Given the description of an element on the screen output the (x, y) to click on. 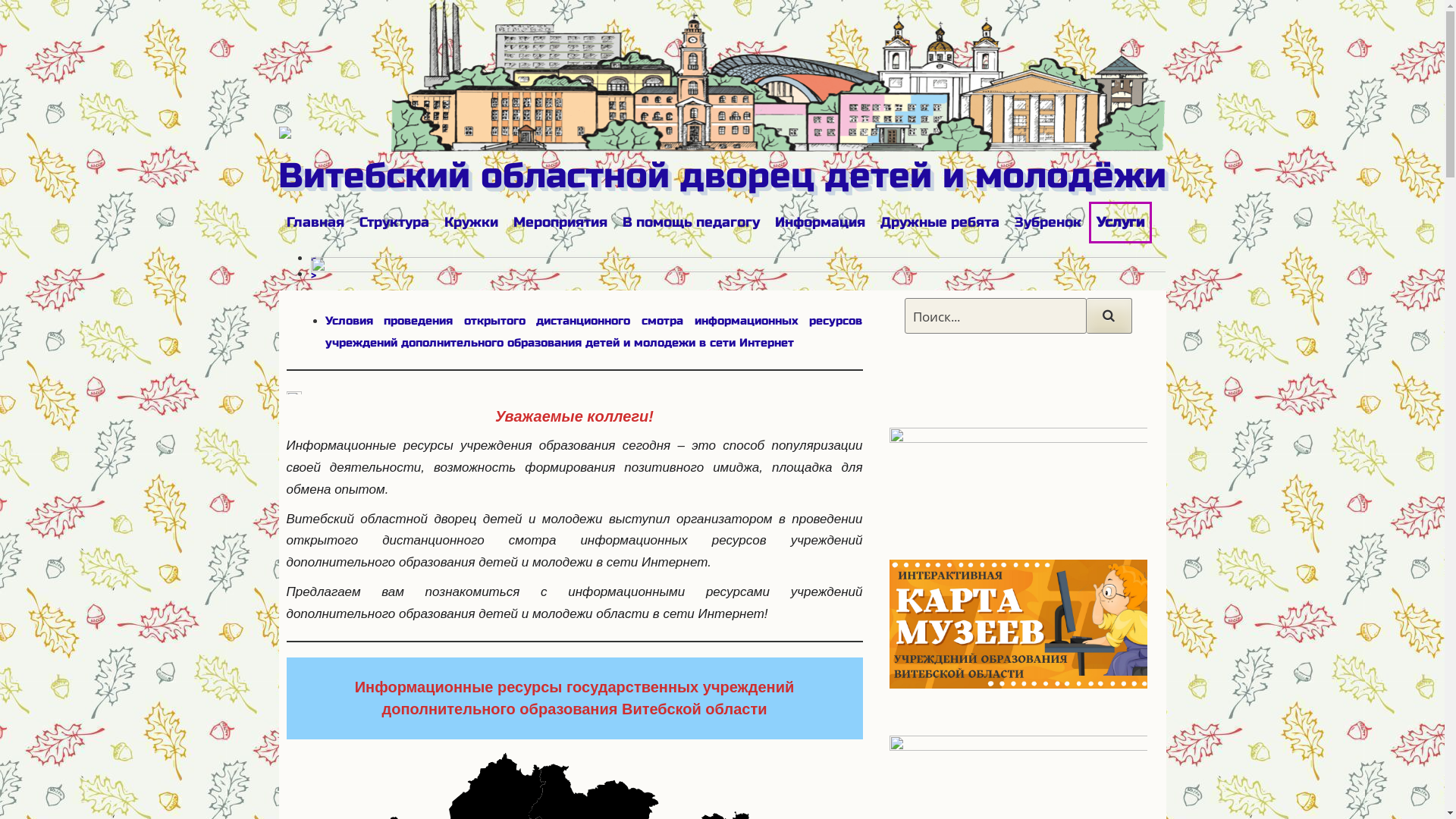
> Element type: text (313, 274)
< Element type: text (313, 258)
